Given the description of an element on the screen output the (x, y) to click on. 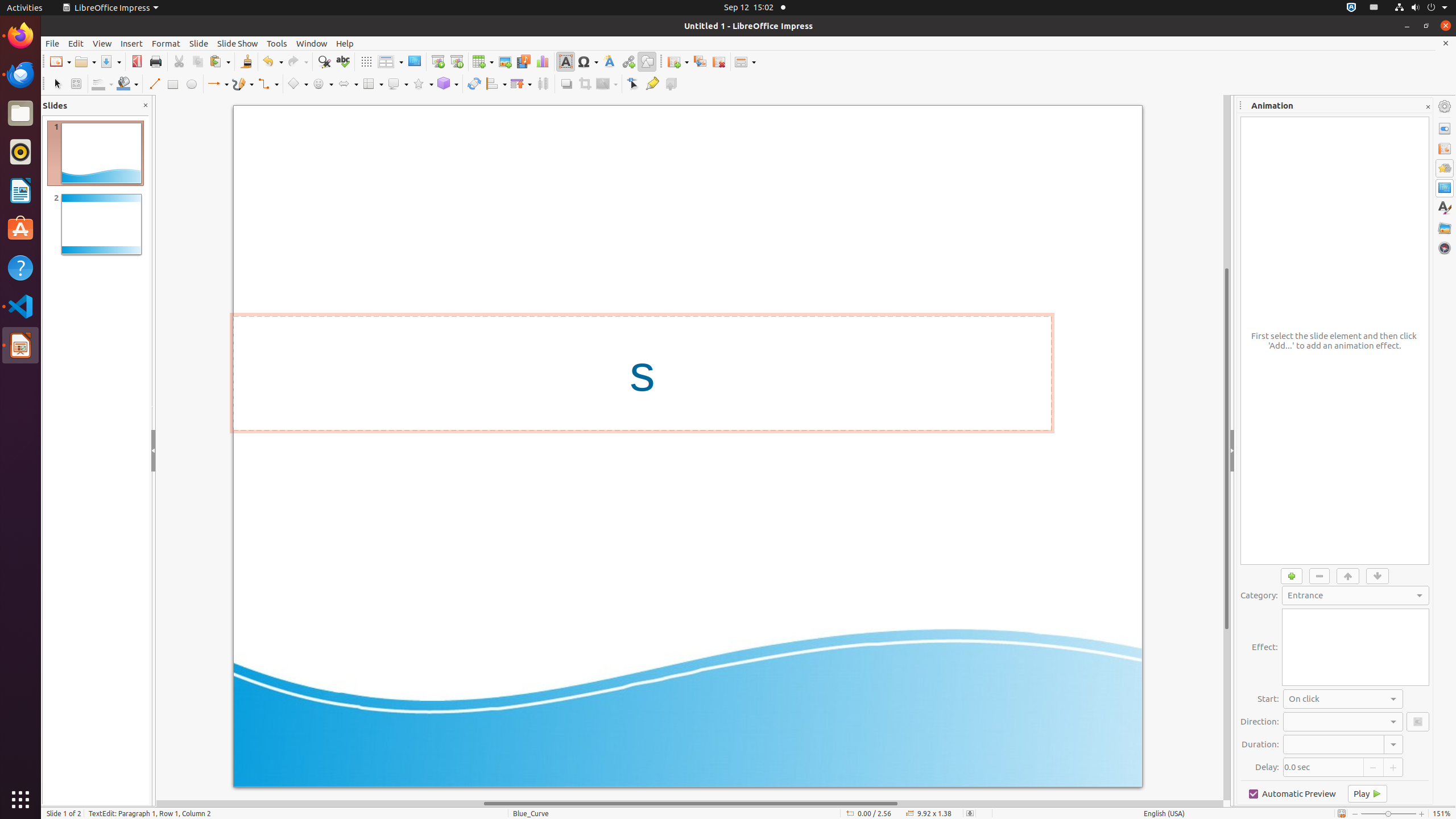
View Element type: menu (102, 43)
Find & Replace Element type: toggle-button (323, 61)
Flowchart Shapes Element type: push-button (372, 83)
Text Box Element type: push-button (565, 61)
Chart Element type: push-button (541, 61)
